Given the description of an element on the screen output the (x, y) to click on. 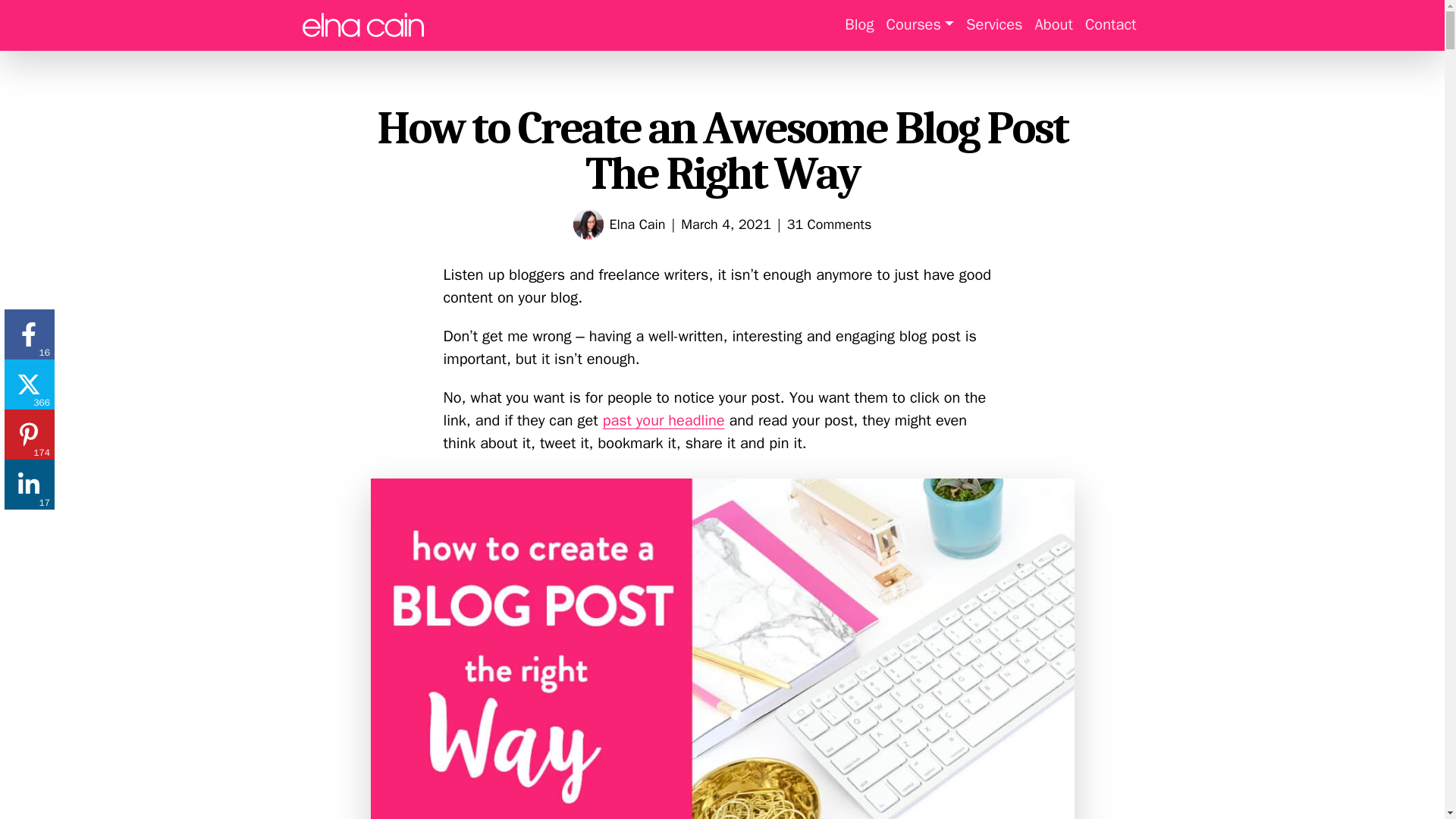
31 Comments (829, 224)
Services (993, 24)
Elna Cain (637, 224)
Contact (1110, 24)
past your headline (663, 420)
Menu (362, 25)
Courses (919, 24)
About (1053, 24)
Blog (858, 24)
